Given the description of an element on the screen output the (x, y) to click on. 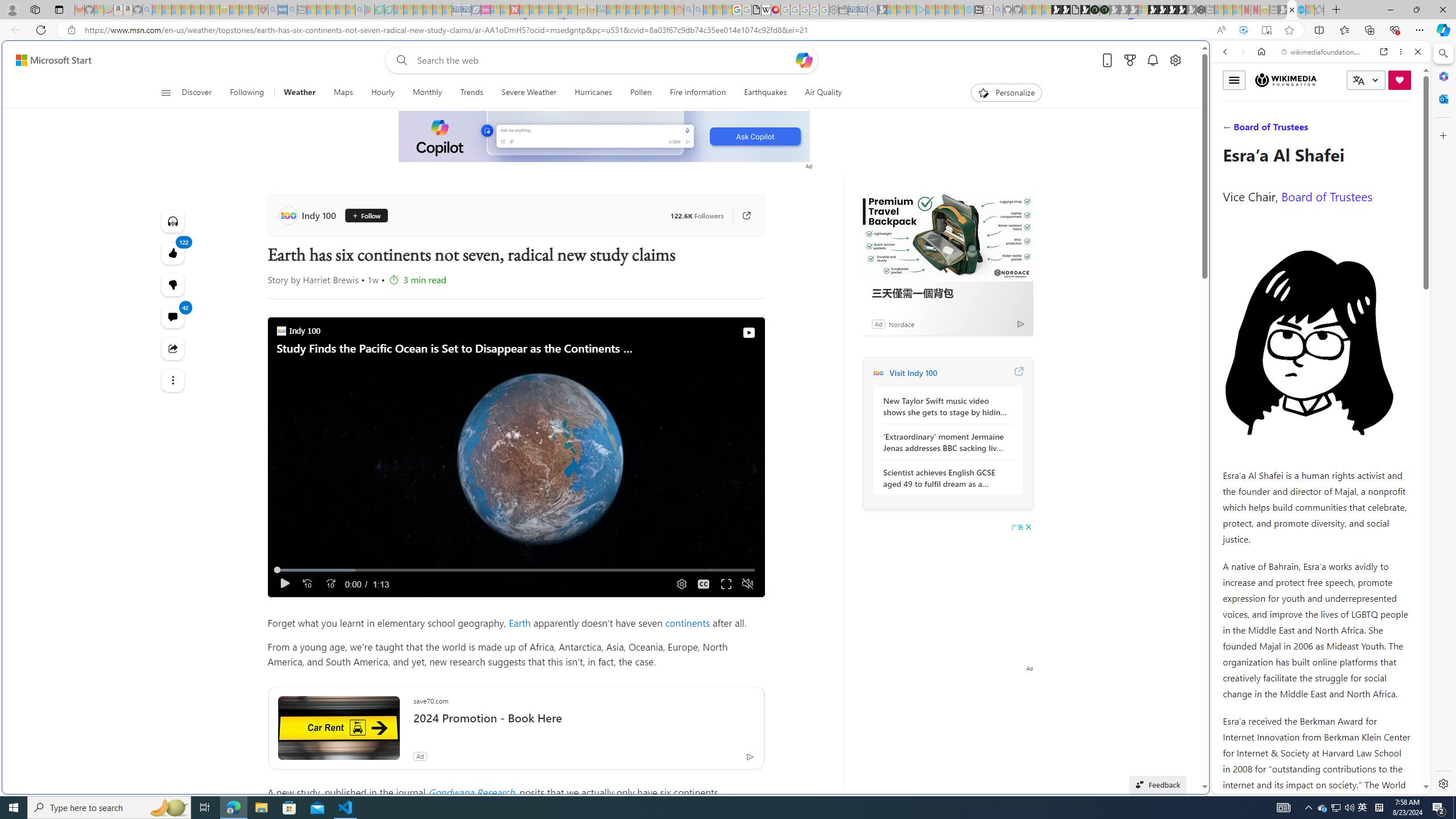
Expert Portfolios - Sleeping (639, 9)
Sign in to your account - Sleeping (1143, 9)
google_privacy_policy_zh-CN.pdf (755, 9)
Toggle menu (1233, 80)
Pollen (641, 92)
